Given the description of an element on the screen output the (x, y) to click on. 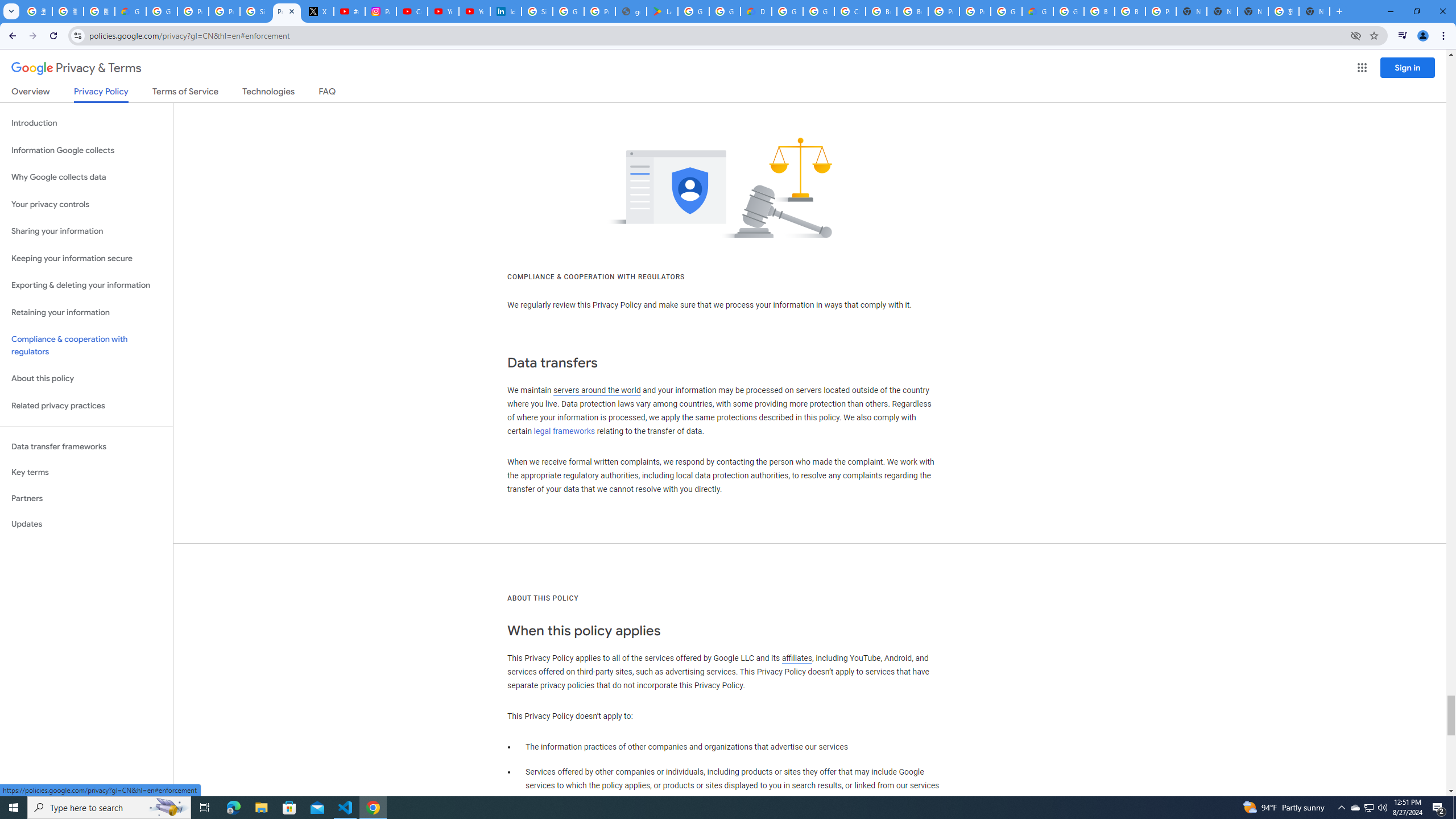
New Tab (1190, 11)
Google Cloud Platform (1005, 11)
legal frameworks (563, 430)
